Given the description of an element on the screen output the (x, y) to click on. 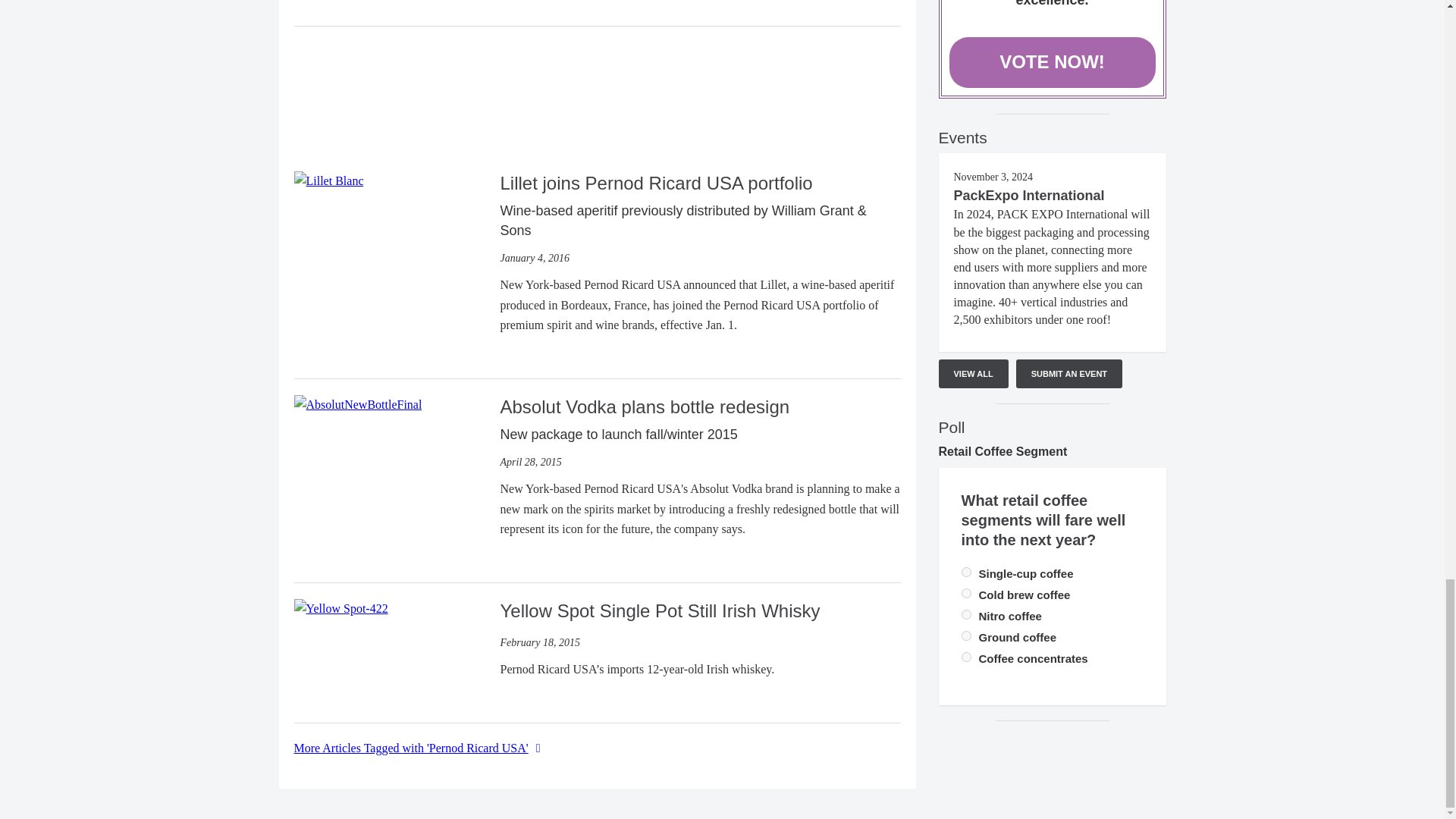
3093 (965, 593)
3092 (965, 572)
3094 (965, 614)
3096 (965, 635)
3095 (965, 656)
